Given the description of an element on the screen output the (x, y) to click on. 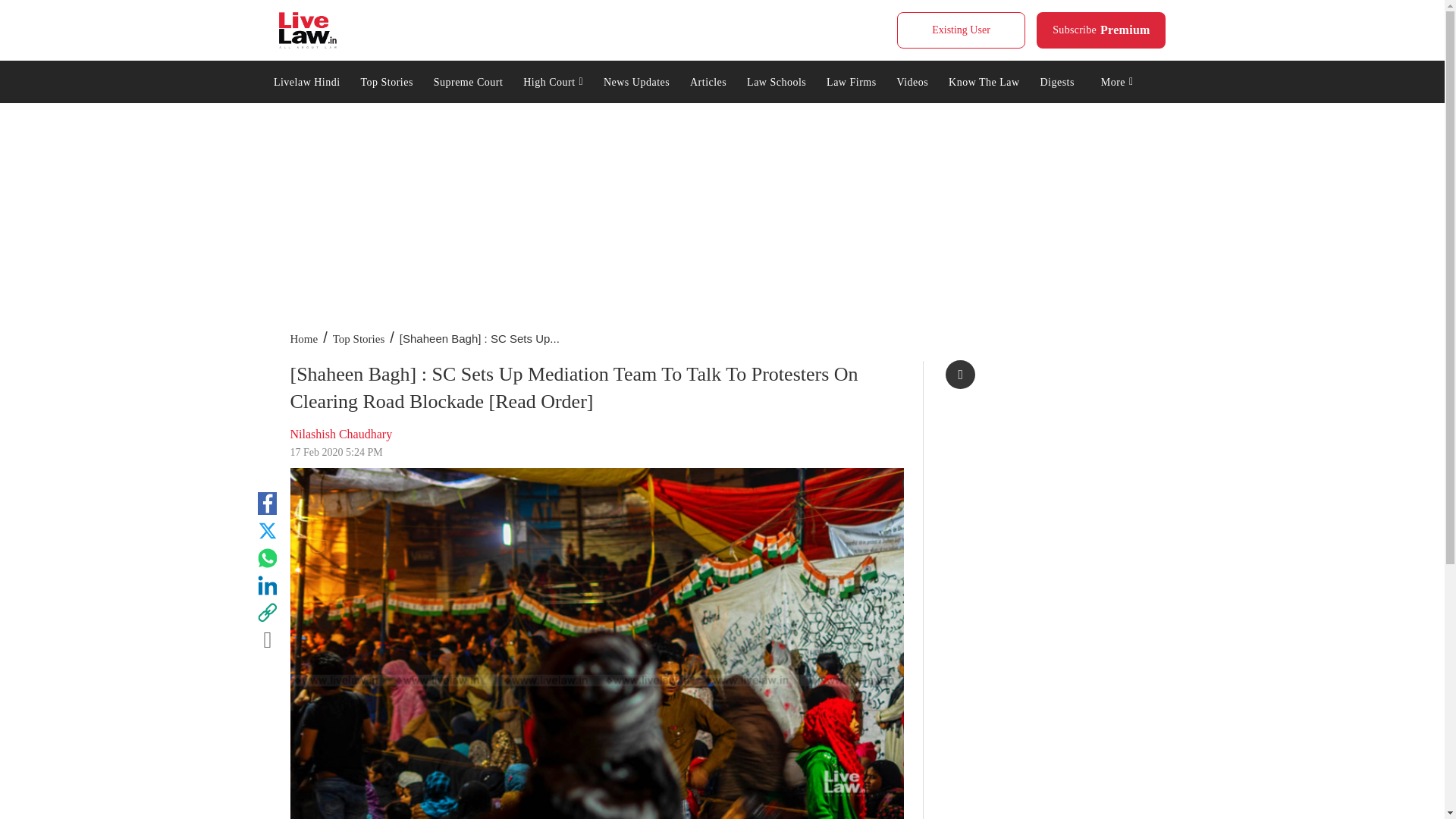
Top Stories (386, 80)
High Court (553, 80)
Livelaw Hindi (306, 80)
Live Law (1101, 30)
Existing User (307, 30)
Supreme Court (960, 30)
